Given the description of an element on the screen output the (x, y) to click on. 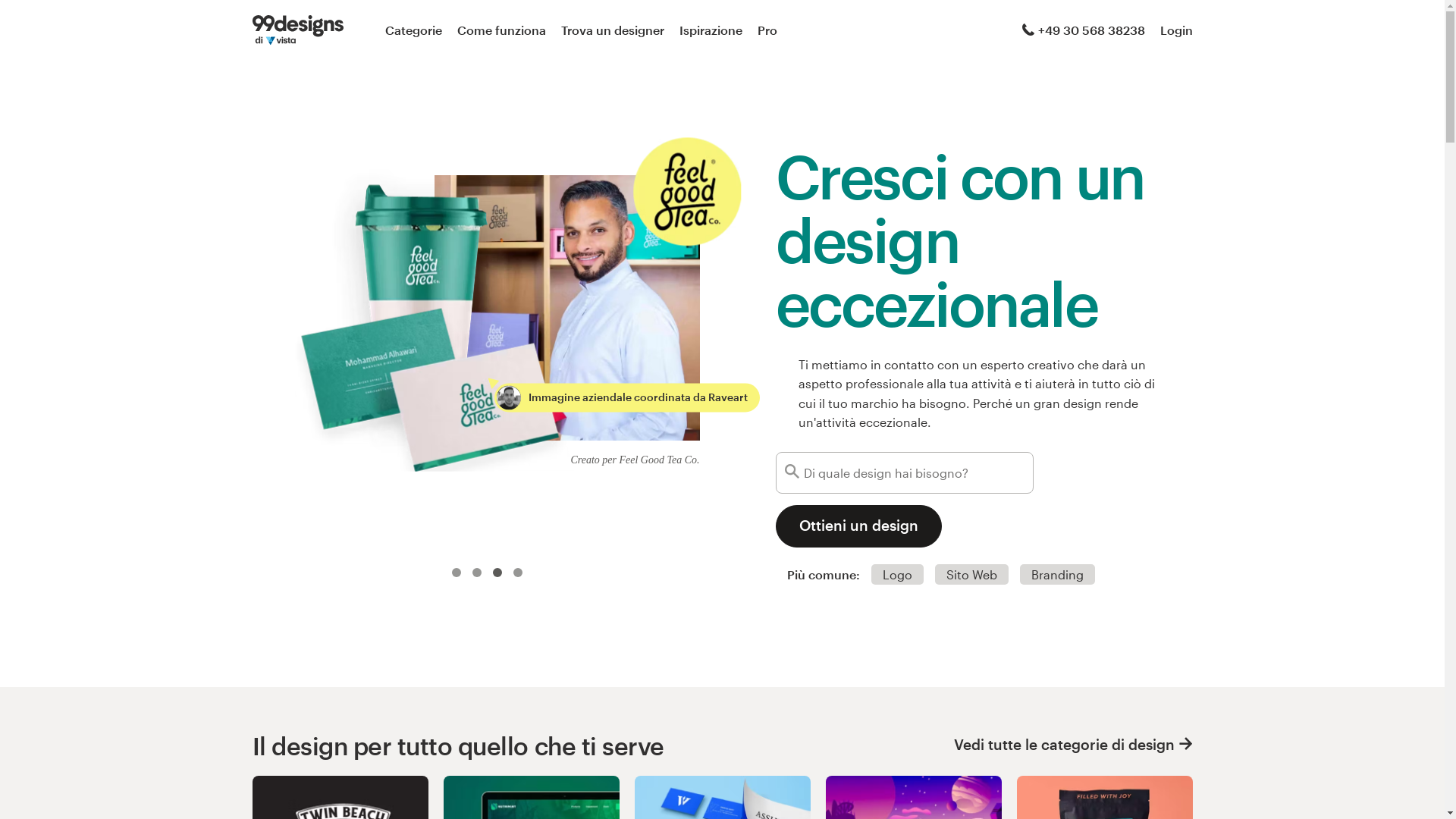
+49 30 568 38238 Element type: text (1083, 30)
Pro Element type: text (766, 30)
Vedi tutte le categorie di design Element type: text (1072, 744)
Ottieni un design Element type: text (858, 526)
Ispirazione Element type: text (710, 30)
Sito Web Element type: text (970, 574)
Categorie Element type: text (413, 30)
Come funziona Element type: text (500, 30)
99designs di Vista Element type: hover (296, 30)
Branding Element type: text (1056, 574)
Trova un designer Element type: text (612, 30)
Logo Element type: text (896, 574)
Login Element type: text (1176, 30)
Branding da Kamilla Oblakova Element type: text (514, 152)
